Given the description of an element on the screen output the (x, y) to click on. 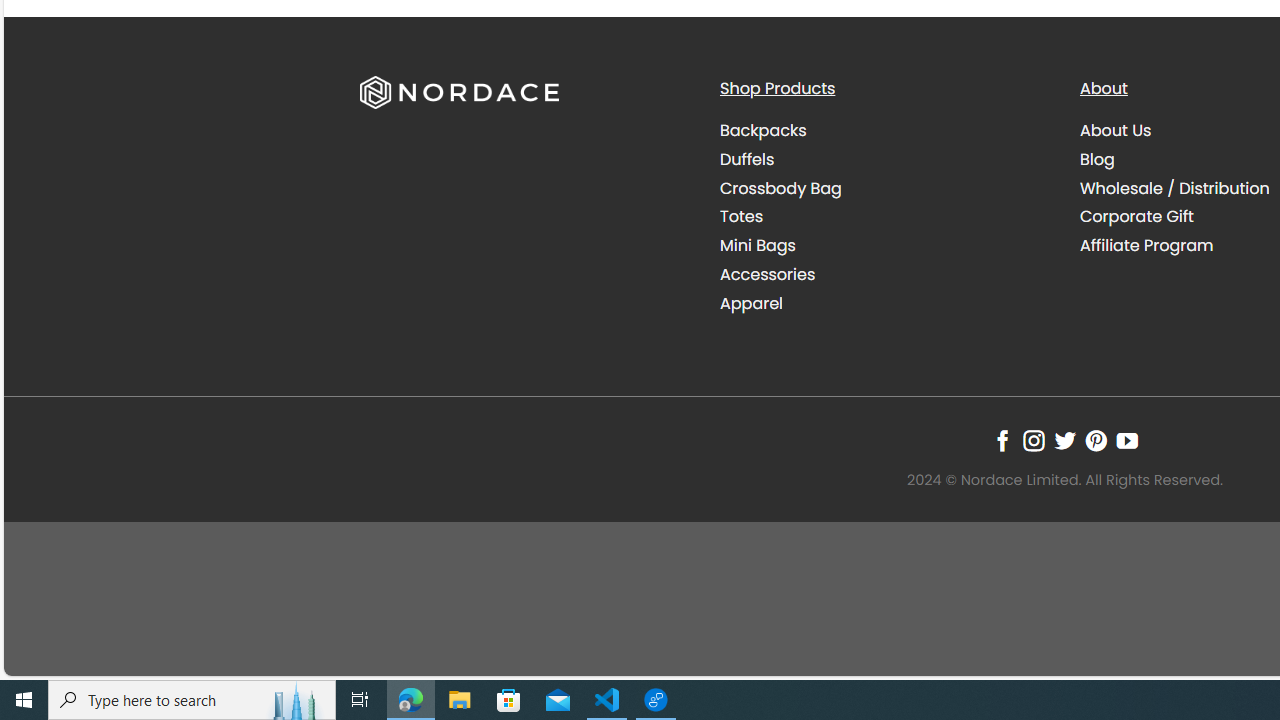
Follow on Facebook (1002, 440)
Accessories (884, 274)
Mini Bags (757, 245)
Backpacks (884, 131)
Follow on Instagram (1033, 440)
Follow on Pinterest (1096, 440)
Follow on Twitter (1064, 440)
Blog (1097, 158)
Duffels (884, 159)
